Given the description of an element on the screen output the (x, y) to click on. 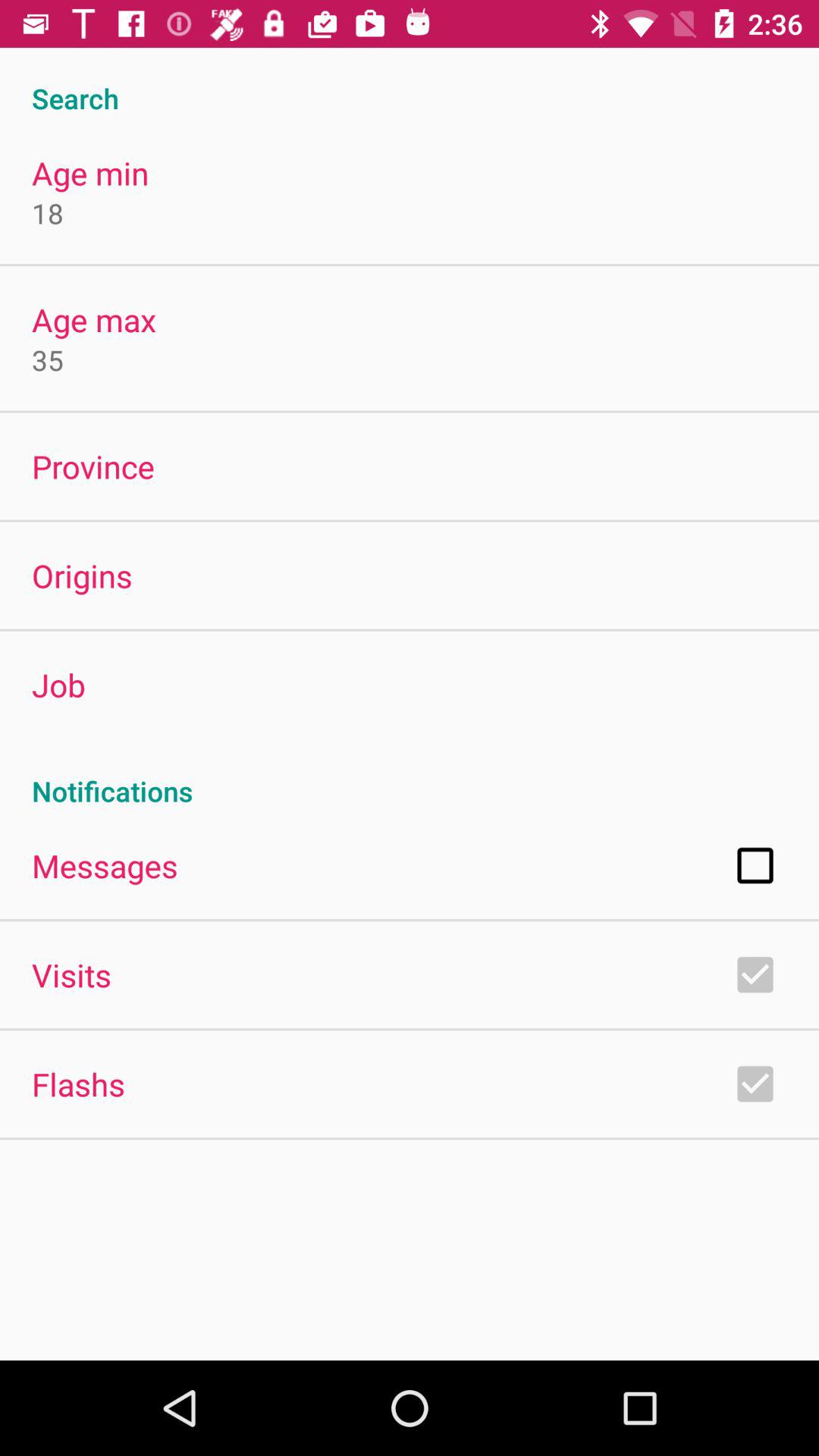
press the app below the job icon (409, 774)
